Given the description of an element on the screen output the (x, y) to click on. 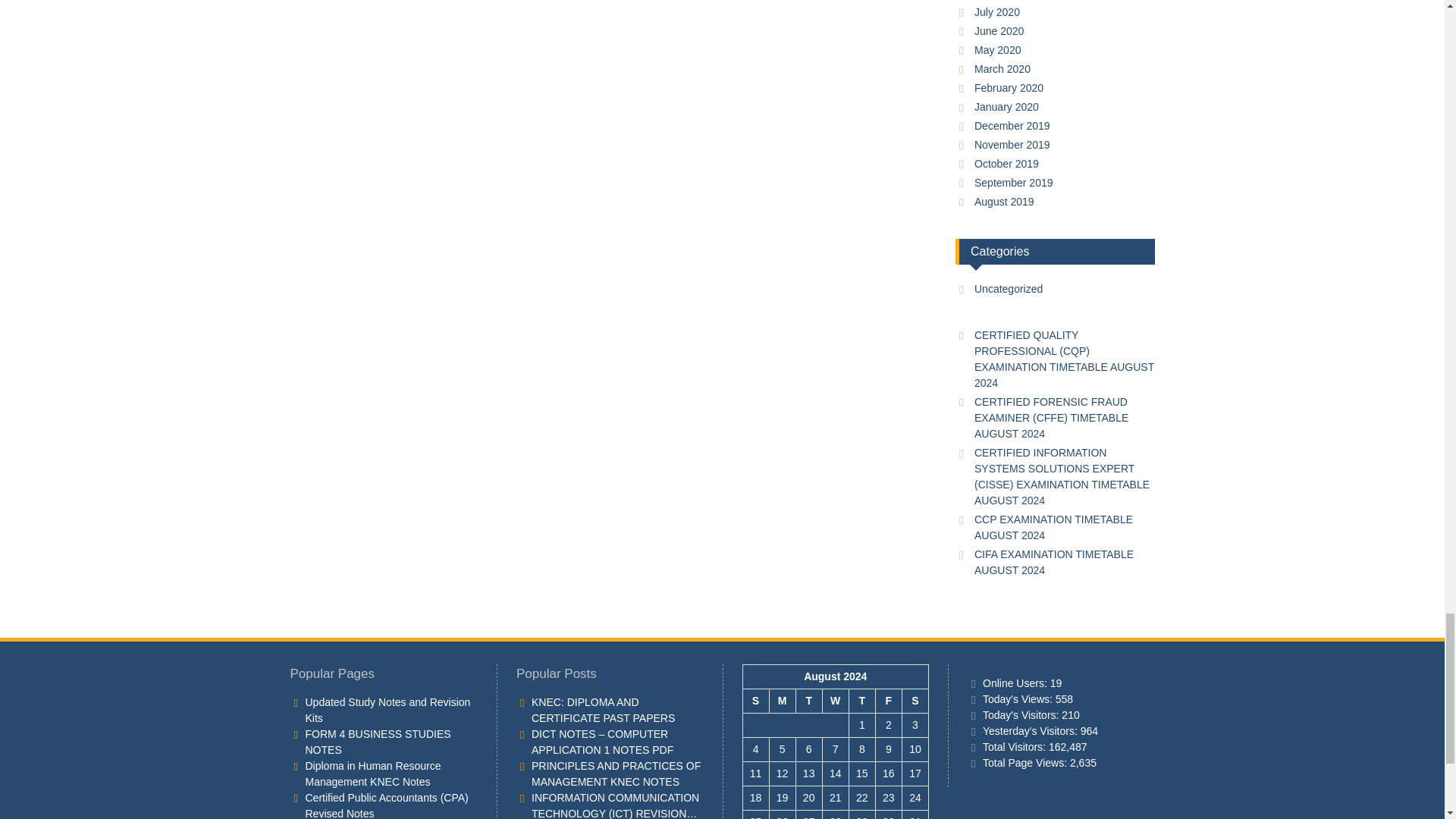
Wednesday (835, 700)
Thursday (861, 700)
Friday (888, 700)
Saturday (914, 700)
Sunday (755, 700)
Monday (781, 700)
Tuesday (808, 700)
